Given the description of an element on the screen output the (x, y) to click on. 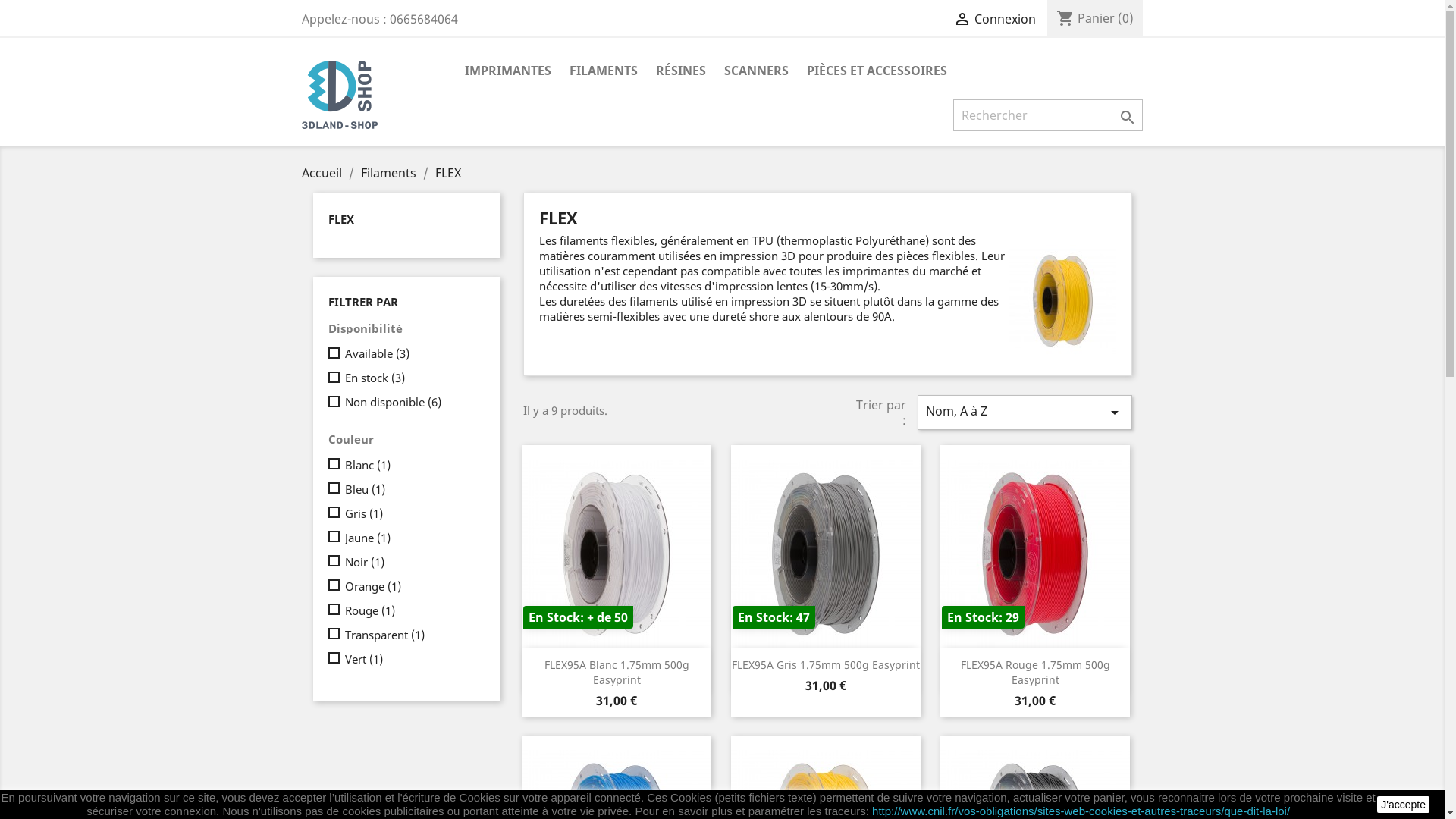
Available (3) Element type: text (411, 352)
Transparent (1) Element type: text (411, 633)
Orange (1) Element type: text (411, 585)
Jaune (1) Element type: text (411, 536)
Accueil Element type: text (323, 172)
FLEX95A Blanc 1.75mm 500g Easyprint Element type: text (616, 672)
FLEX95A Rouge 1.75mm 500g Easyprint Element type: text (1034, 672)
Blanc (1) Element type: text (411, 463)
SCANNERS Element type: text (755, 71)
Non disponible (6) Element type: text (411, 401)
FLEX Element type: text (340, 218)
J'accepte Element type: text (1403, 804)
Vert (1) Element type: text (411, 657)
Bleu (1) Element type: text (411, 487)
FLEX Element type: text (448, 172)
FLEX95A Gris 1.75mm 500g Easyprint Element type: text (825, 664)
IMPRIMANTES Element type: text (507, 71)
En stock (3) Element type: text (411, 377)
FILAMENTS Element type: text (602, 71)
Gris (1) Element type: text (411, 512)
Filaments Element type: text (389, 172)
Rouge (1) Element type: text (411, 609)
Noir (1) Element type: text (411, 560)
